Given the description of an element on the screen output the (x, y) to click on. 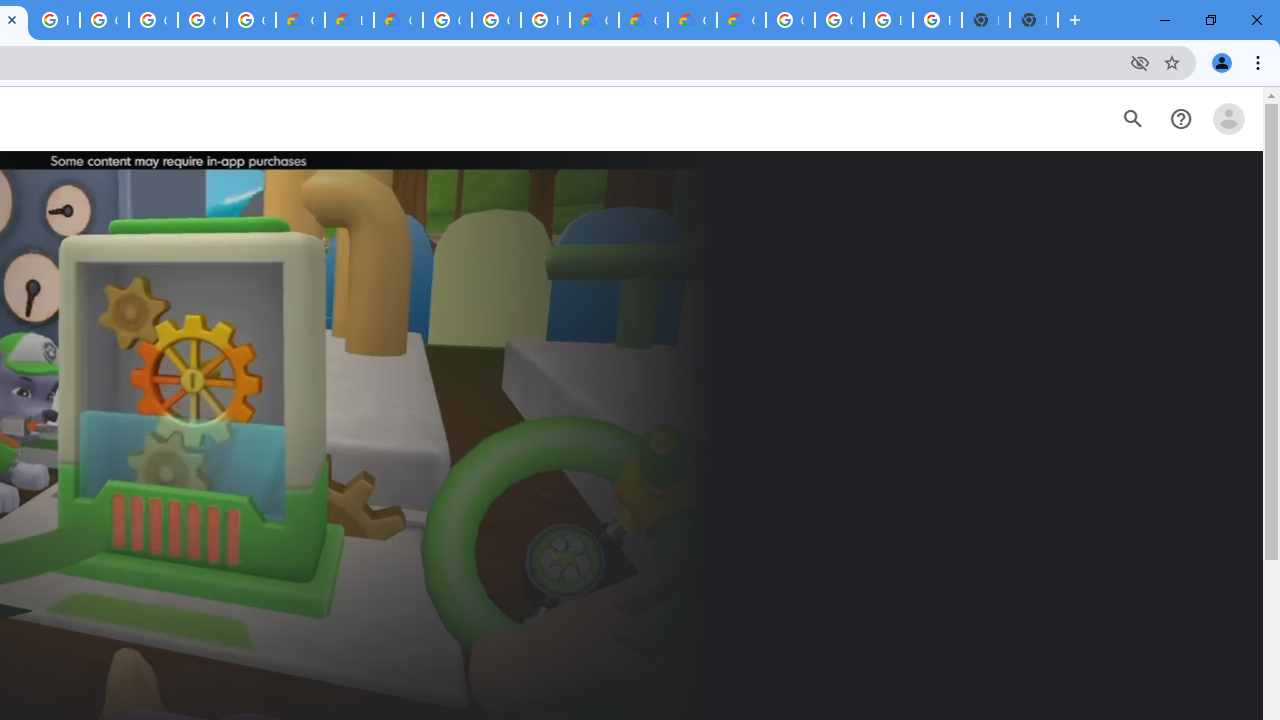
Open account menu (1228, 119)
Customer Care | Google Cloud (594, 20)
Gemini for Business and Developers | Google Cloud (398, 20)
Customer Care | Google Cloud (300, 20)
New Tab (1033, 20)
Google Cloud Pricing Calculator (692, 20)
Google Cloud Service Health (740, 20)
Google Cloud Platform (447, 20)
